Given the description of an element on the screen output the (x, y) to click on. 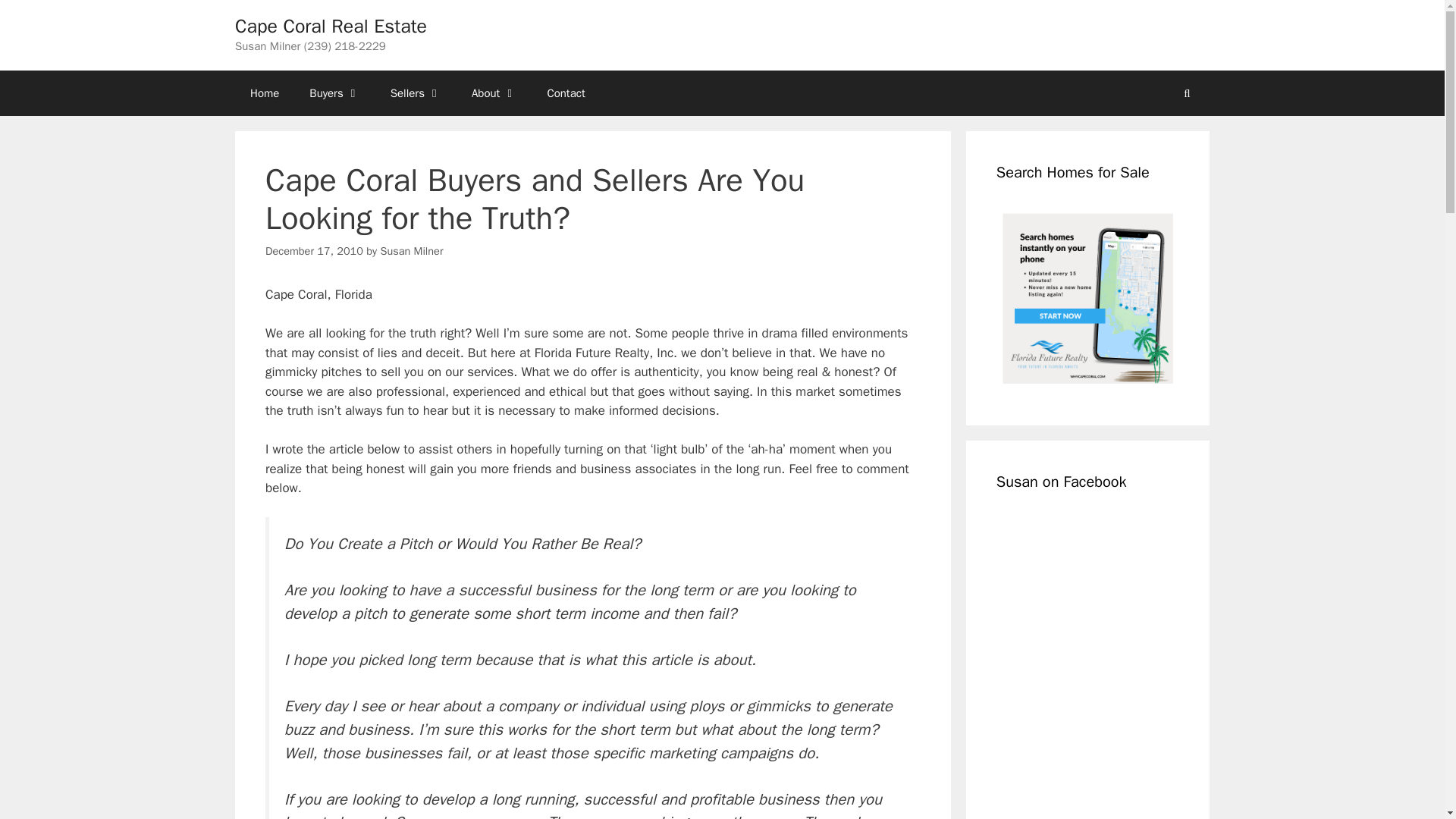
Sellers (416, 92)
Buyers (334, 92)
Susan Milner (411, 250)
Cape Coral Real Estate (330, 25)
View all posts by Susan Milner (411, 250)
About (494, 92)
Home (264, 92)
Contact (565, 92)
